Given the description of an element on the screen output the (x, y) to click on. 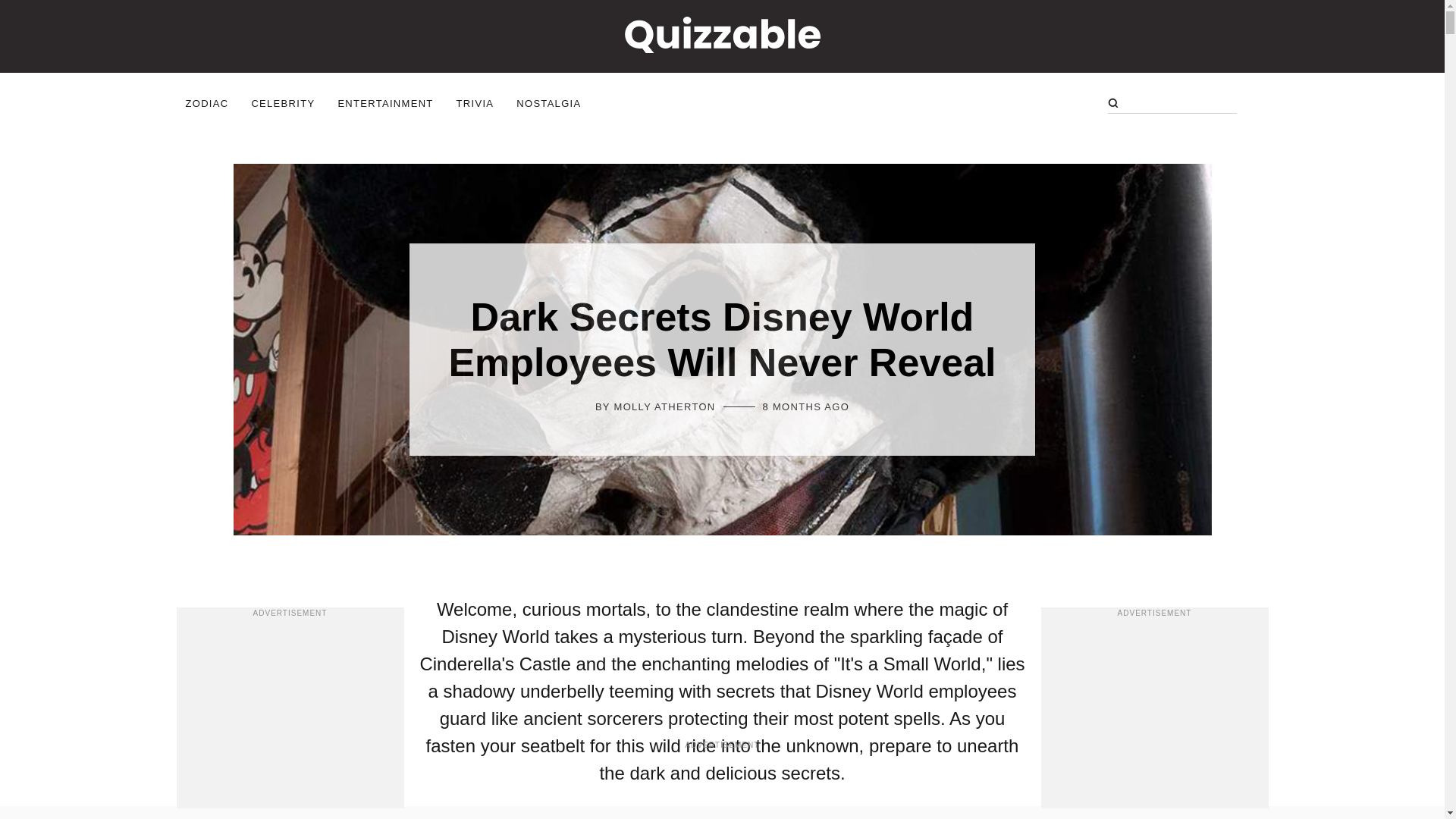
ENTERTAINMENT (384, 102)
ZODIAC (206, 102)
CELEBRITY (282, 102)
NOSTALGIA (548, 102)
TRIVIA (476, 102)
